Given the description of an element on the screen output the (x, y) to click on. 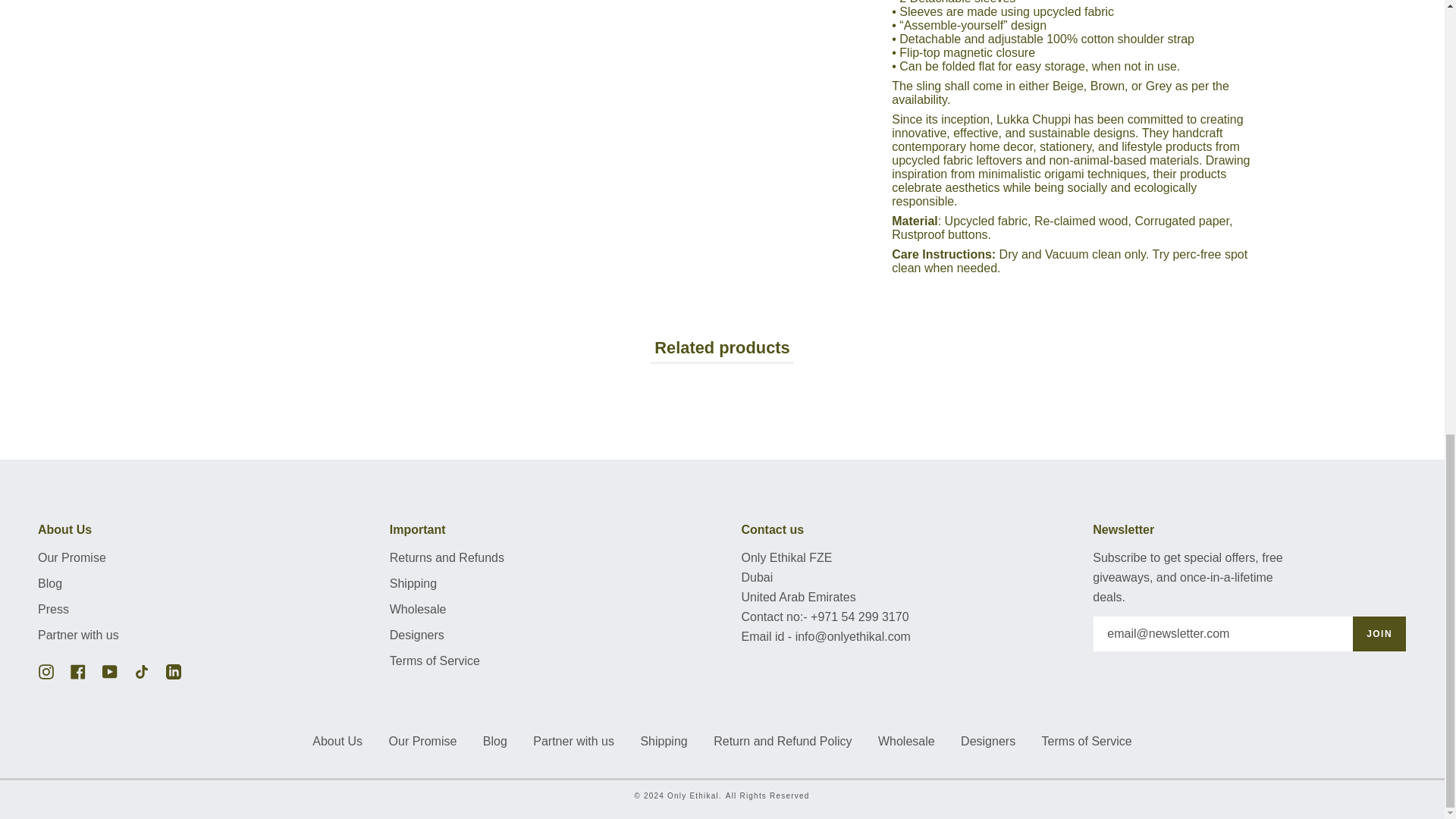
Only Ethikal on Instagram (46, 670)
Only Ethikal on TikKok (141, 670)
Only Ethikal on YouTube (109, 670)
Only Ethikal on Facebook (77, 670)
Only Ethikal on Linkedin (172, 670)
